Given the description of an element on the screen output the (x, y) to click on. 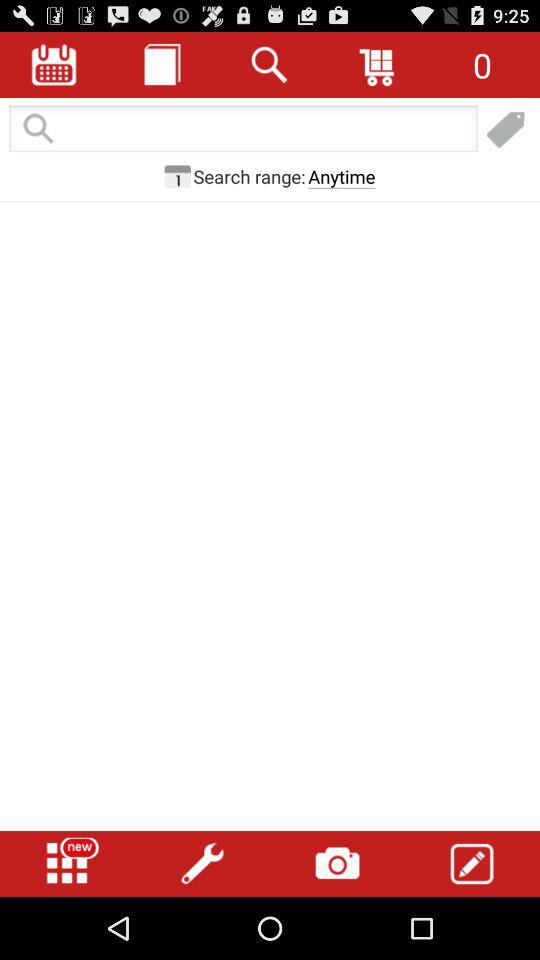
view history (161, 64)
